Given the description of an element on the screen output the (x, y) to click on. 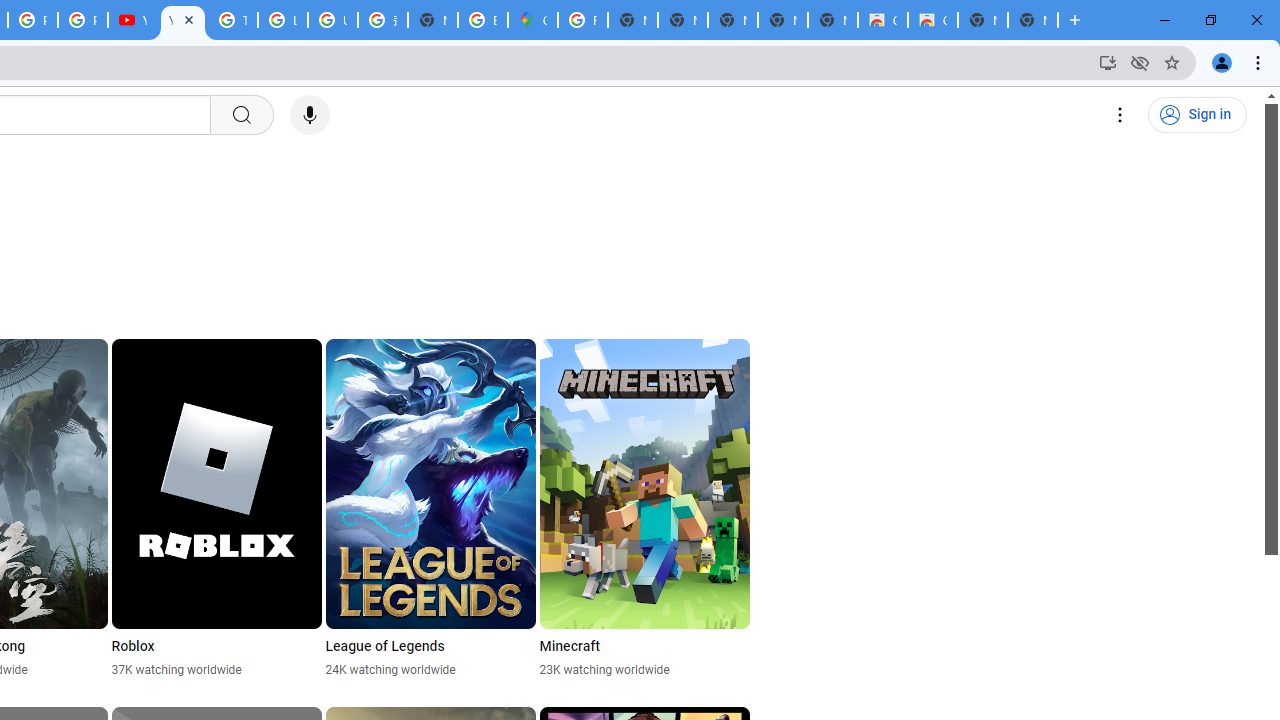
Install YouTube (1107, 62)
Minecraft 23K watching worldwide (644, 508)
YouTube (132, 20)
New Tab (1032, 20)
Explore new street-level details - Google Maps Help (483, 20)
Roblox 37K watching worldwide (216, 508)
Tips & tricks for Chrome - Google Chrome Help (232, 20)
